Given the description of an element on the screen output the (x, y) to click on. 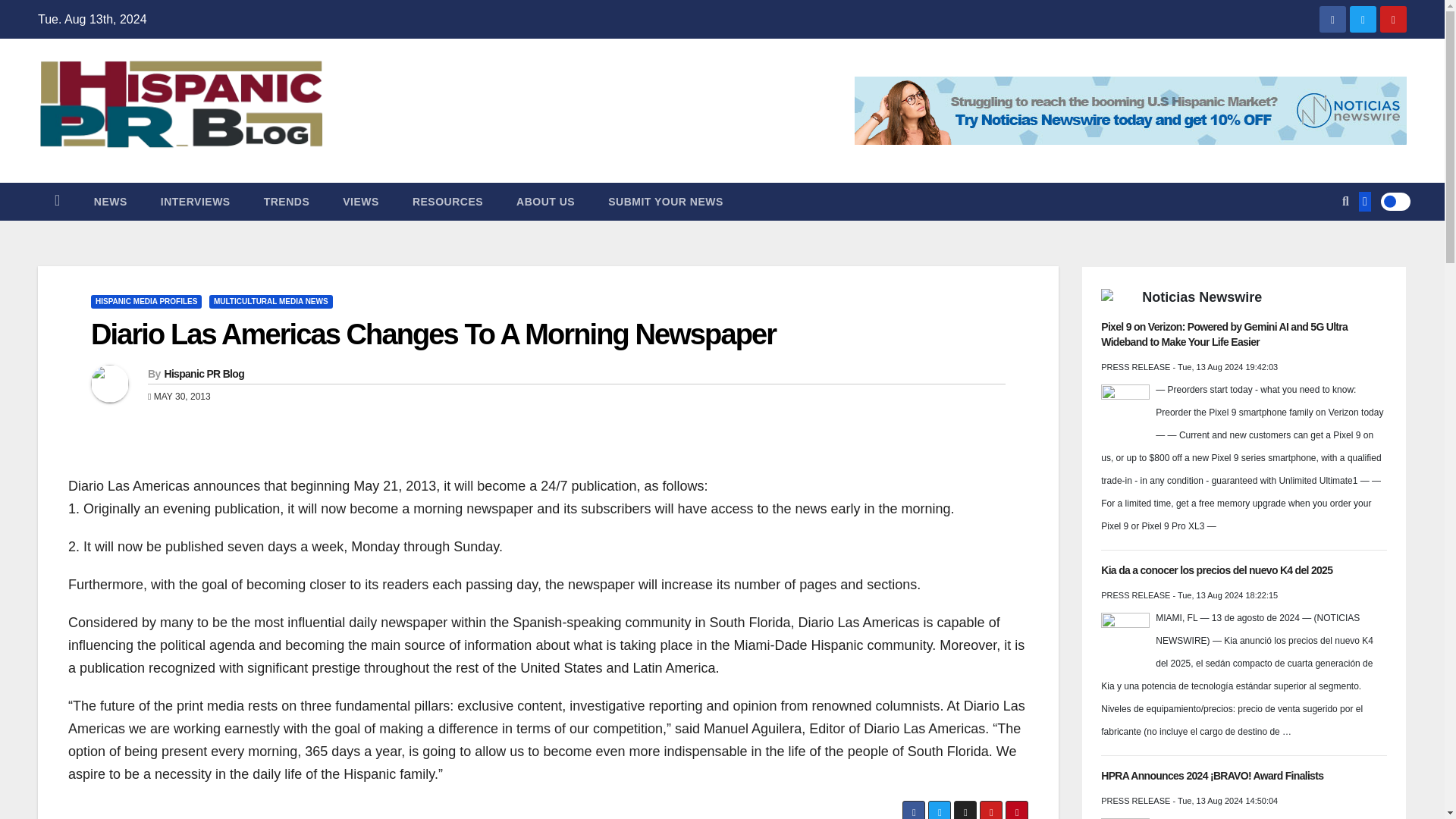
News (110, 201)
Interviews (195, 201)
TRENDS (286, 201)
INTERVIEWS (195, 201)
RESOURCES (447, 201)
VIEWS (361, 201)
Home (57, 201)
Trends (286, 201)
NEWS (110, 201)
